Given the description of an element on the screen output the (x, y) to click on. 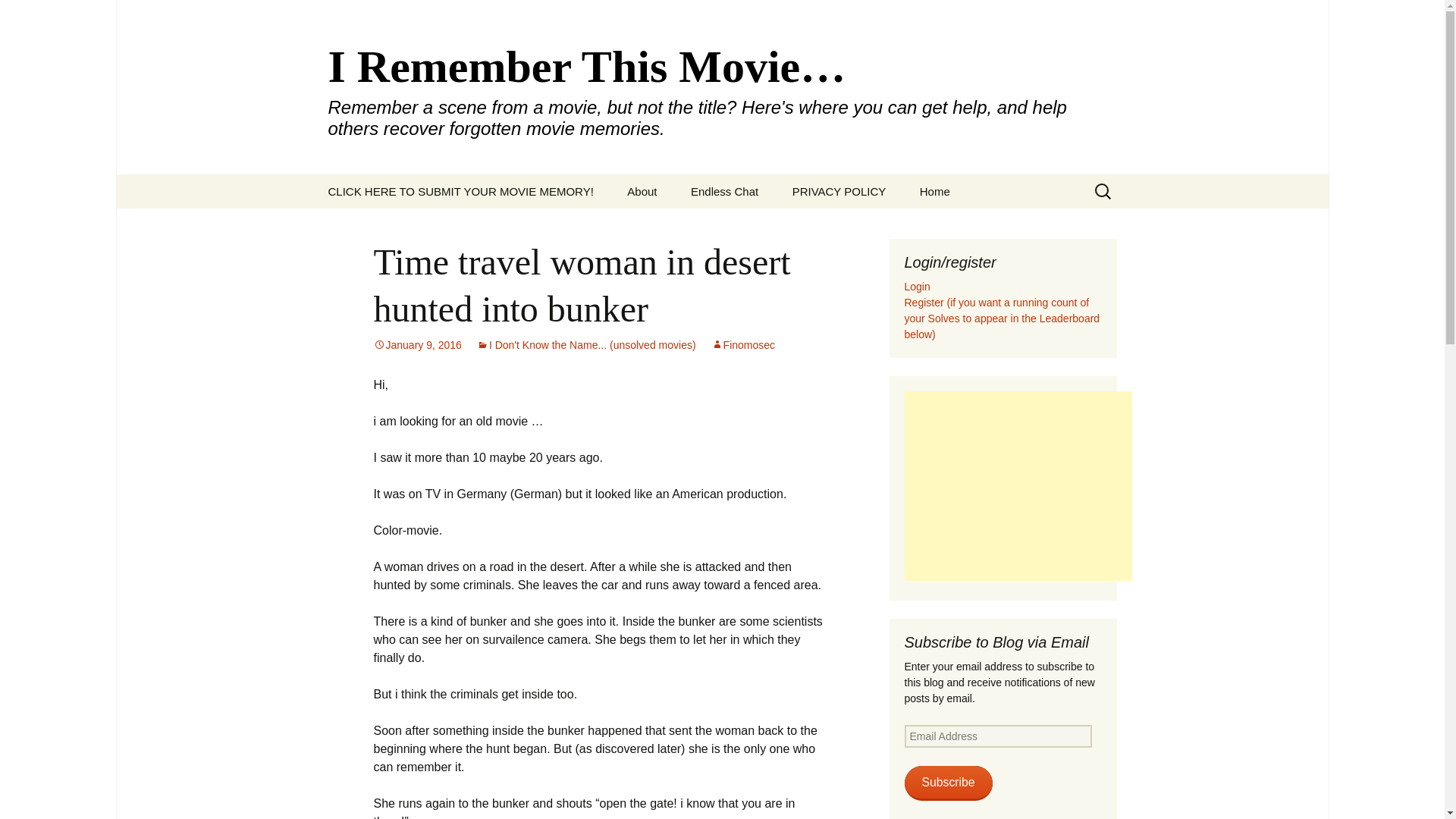
CLICK HERE TO SUBMIT YOUR MOVIE MEMORY! (460, 191)
Endless Chat (724, 191)
View all posts by Finomosec (742, 345)
Login (917, 286)
PRIVACY POLICY (839, 191)
Search (18, 15)
January 9, 2016 (416, 345)
Permalink to Time travel woman in desert hunted into bunker (416, 345)
About (641, 191)
Home (934, 191)
Advertisement (1017, 485)
Finomosec (742, 345)
Subscribe (947, 782)
